Given the description of an element on the screen output the (x, y) to click on. 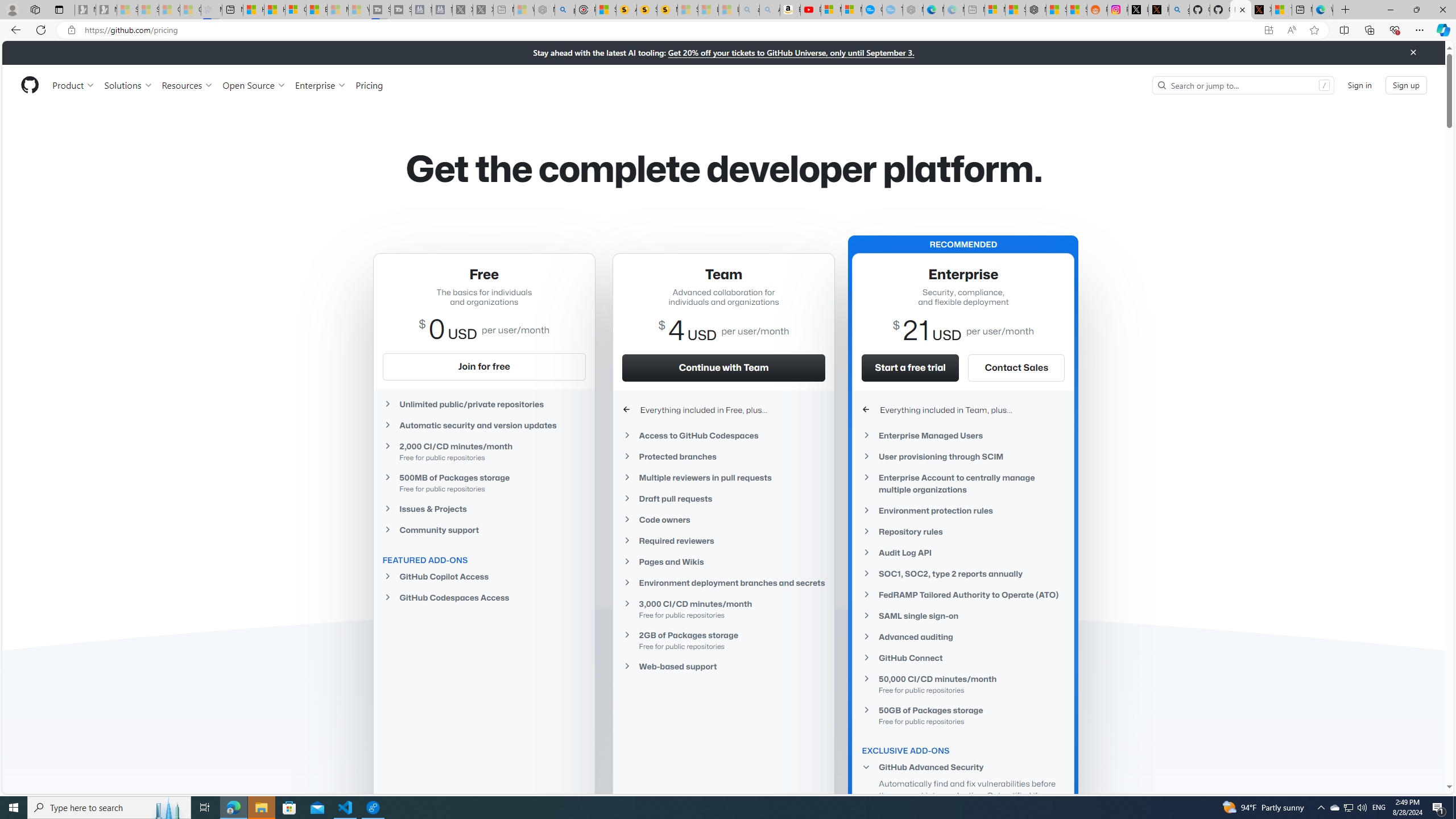
Code owners (723, 519)
App available. Install GitHub (1268, 29)
github - Search (1178, 9)
Protected branches (723, 456)
Environment protection rules (963, 510)
Resources (187, 84)
2GB of Packages storageFree for public repositories (723, 640)
Shanghai, China Weather trends | Microsoft Weather (1076, 9)
Environment deployment branches and secrets (723, 582)
Open Source (254, 84)
Unlimited public/private repositories (483, 404)
